Given the description of an element on the screen output the (x, y) to click on. 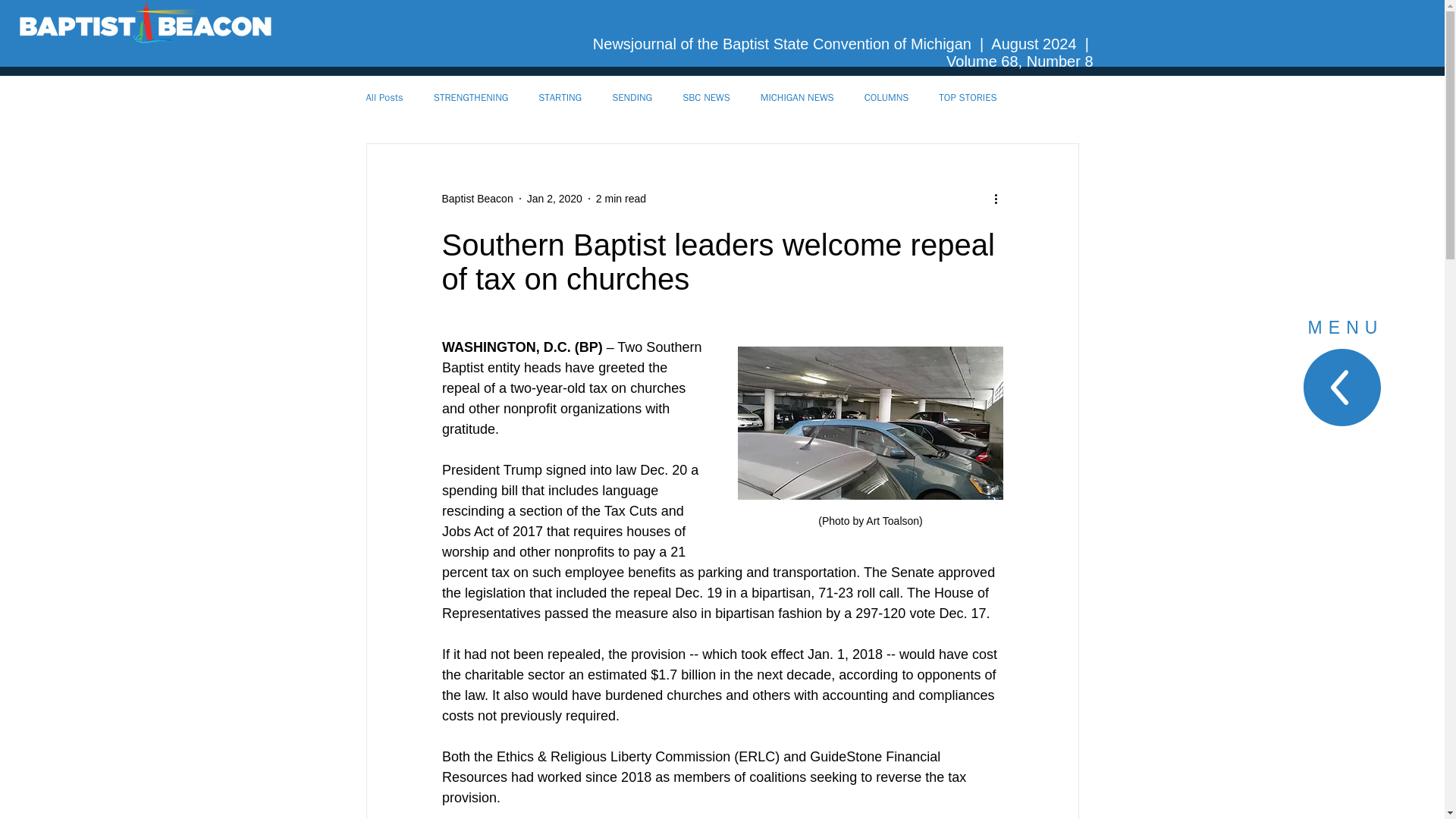
MICHIGAN NEWS (797, 97)
SENDING (631, 97)
All Posts (384, 97)
2 min read (620, 198)
Jan 2, 2020 (554, 198)
STRENGTHENING (470, 97)
COLUMNS (886, 97)
STARTING (559, 97)
TOP STORIES (967, 97)
Baptist Beacon (476, 198)
